Given the description of an element on the screen output the (x, y) to click on. 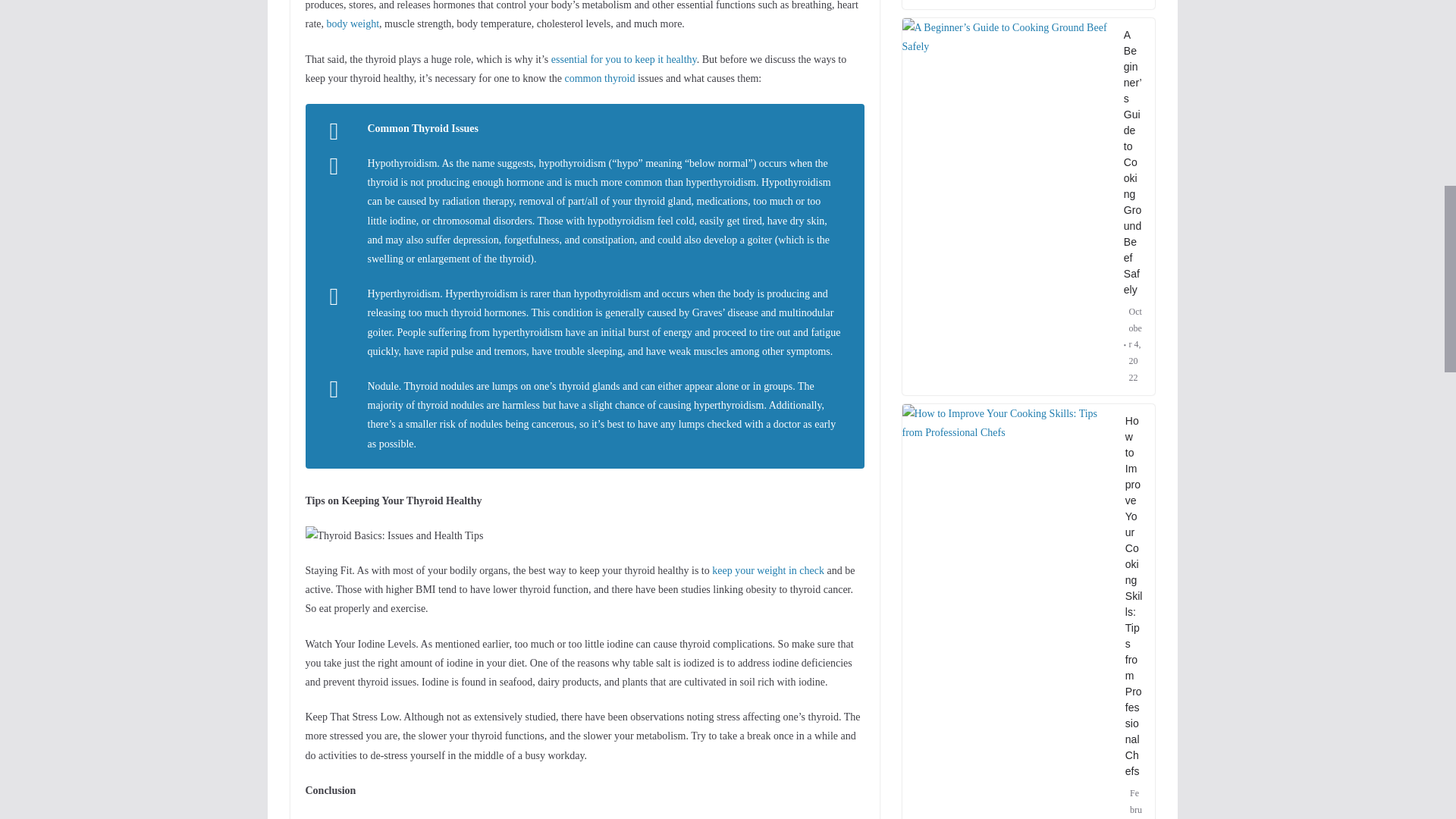
common thyroid (599, 78)
essential for you to keep it healthy (624, 58)
keep your weight in check (767, 570)
body weight (352, 23)
